Given the description of an element on the screen output the (x, y) to click on. 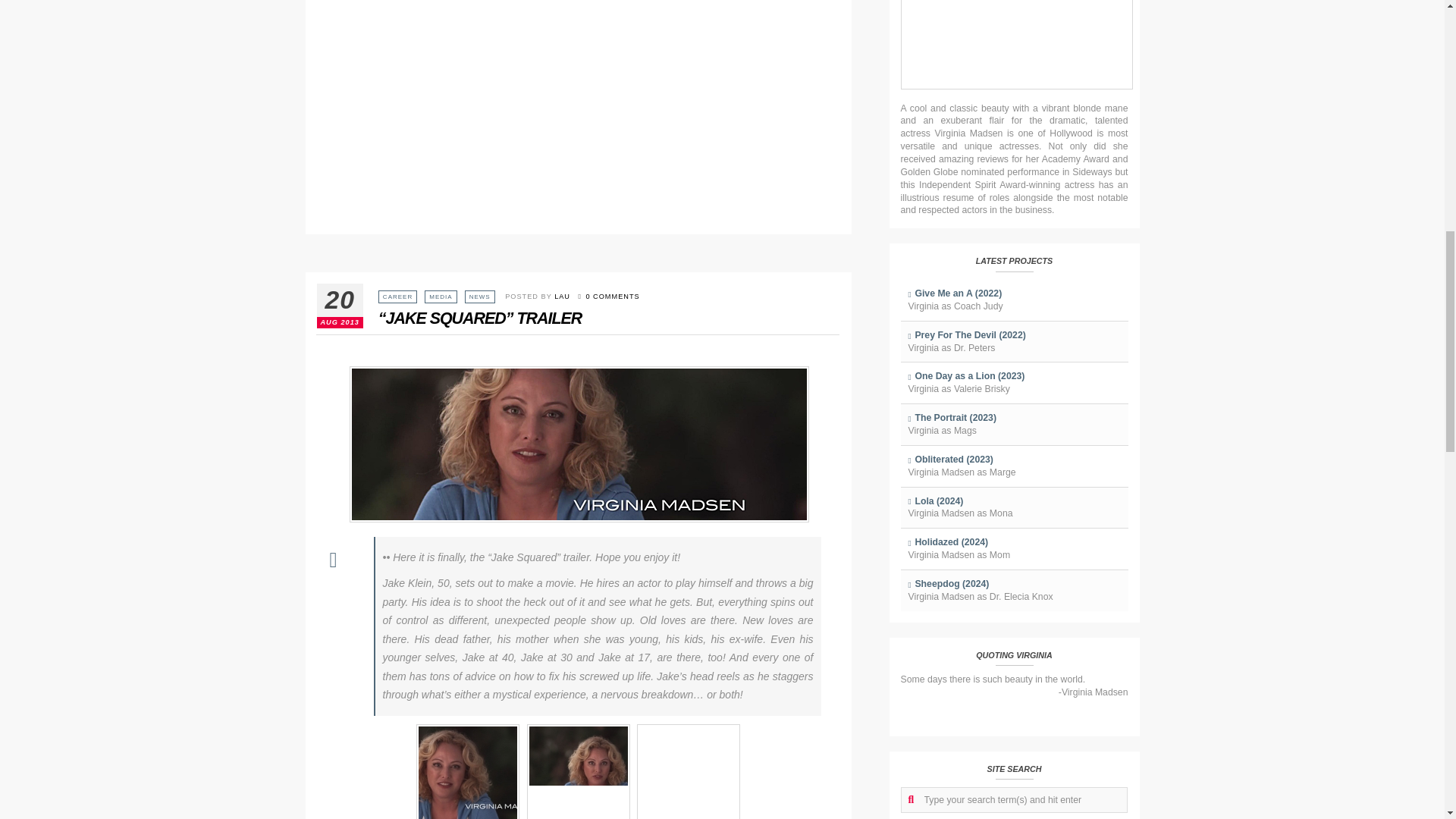
Author: Lau (562, 296)
LAU (562, 296)
0 COMMENTS (606, 296)
CAREER (397, 296)
NEWS (479, 296)
0 Comments (606, 296)
MEDIA (440, 296)
